Given the description of an element on the screen output the (x, y) to click on. 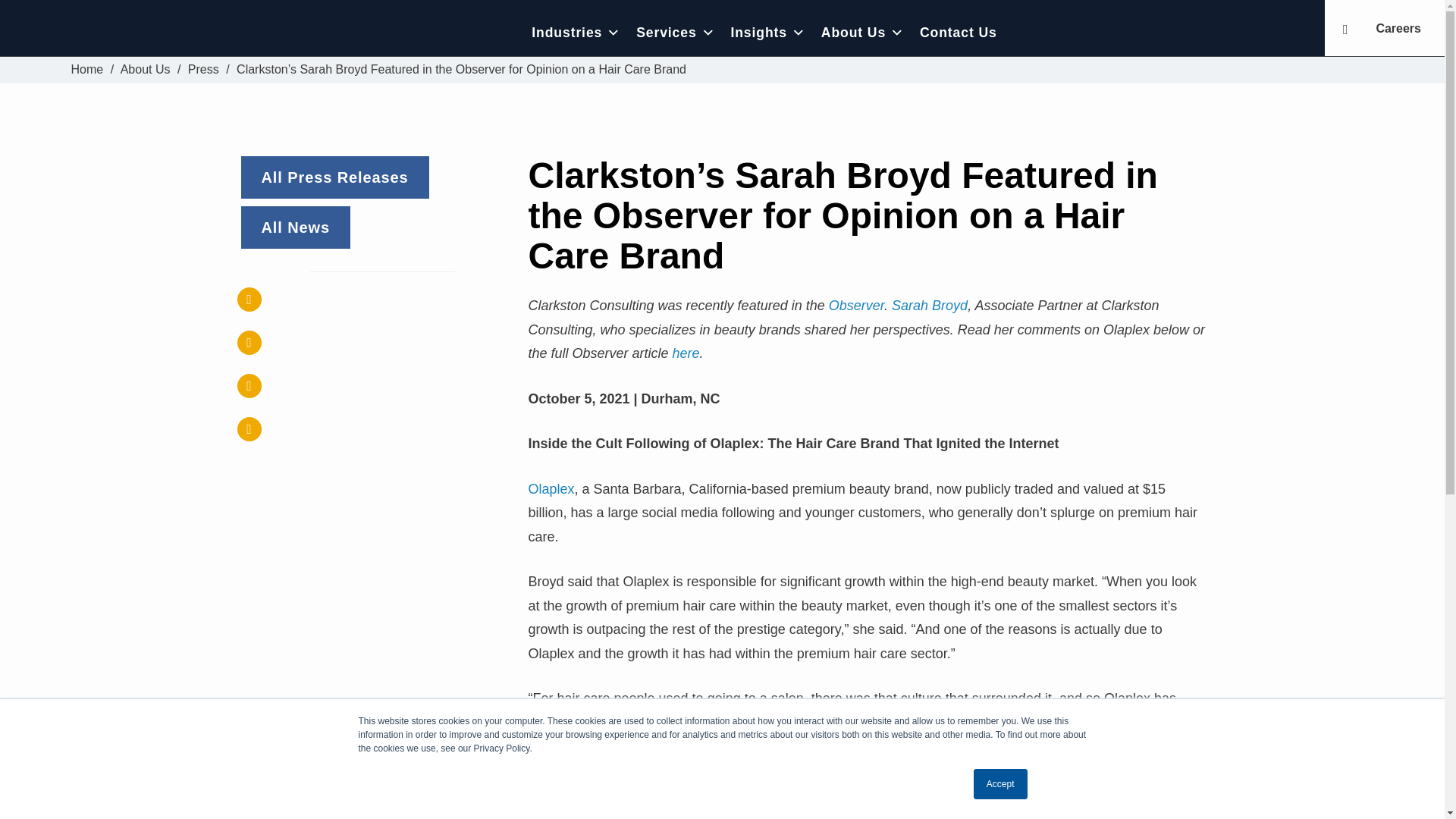
About Us (145, 69)
Accept (1000, 784)
Clarkston Consulting (176, 31)
Industries (576, 32)
Press (203, 69)
Clarkston Consulting (87, 69)
Services (675, 32)
